Given the description of an element on the screen output the (x, y) to click on. 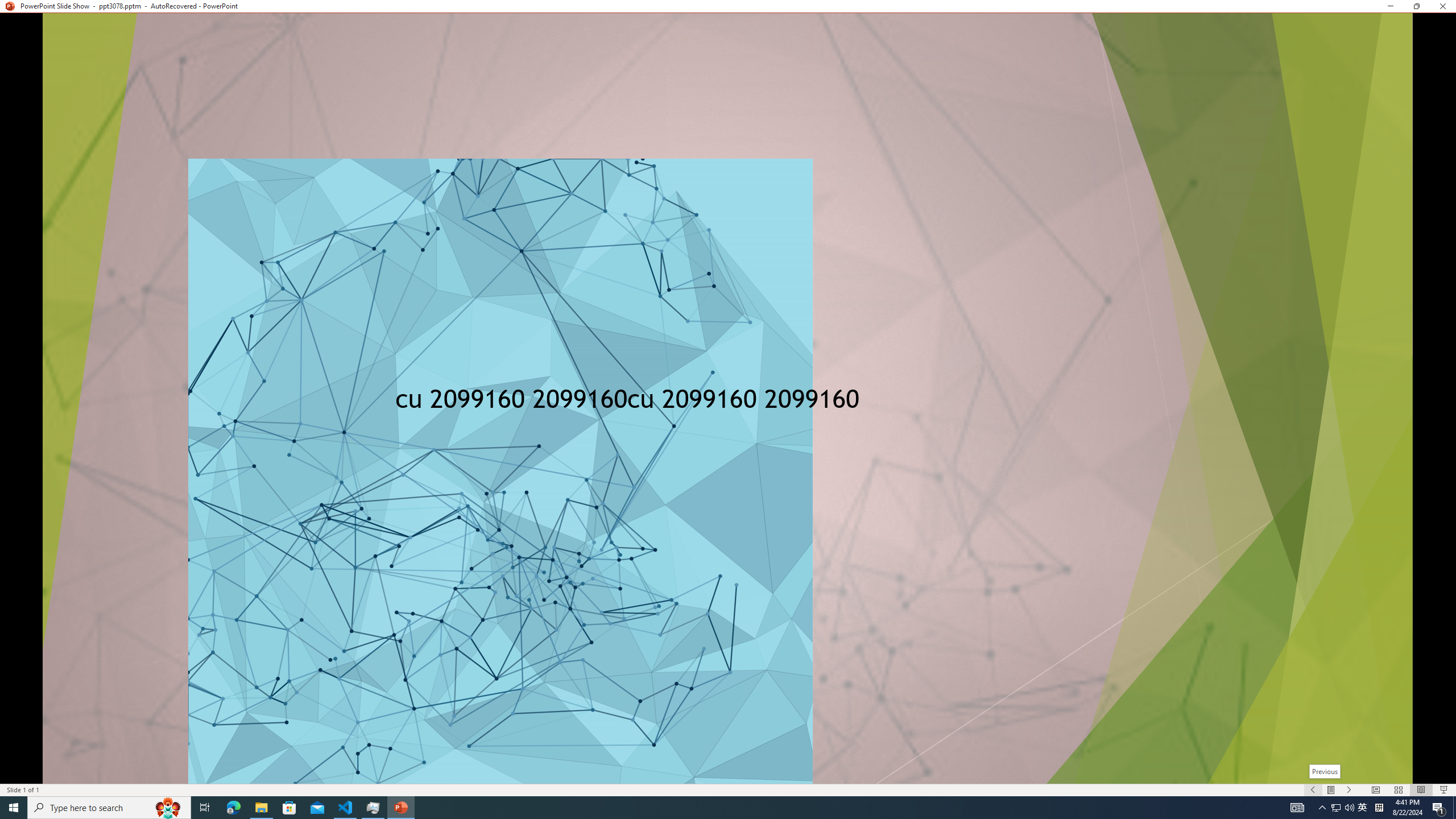
Slide Show Previous On (1313, 790)
Slide Show Next On (1349, 790)
Menu On (1331, 790)
